Given the description of an element on the screen output the (x, y) to click on. 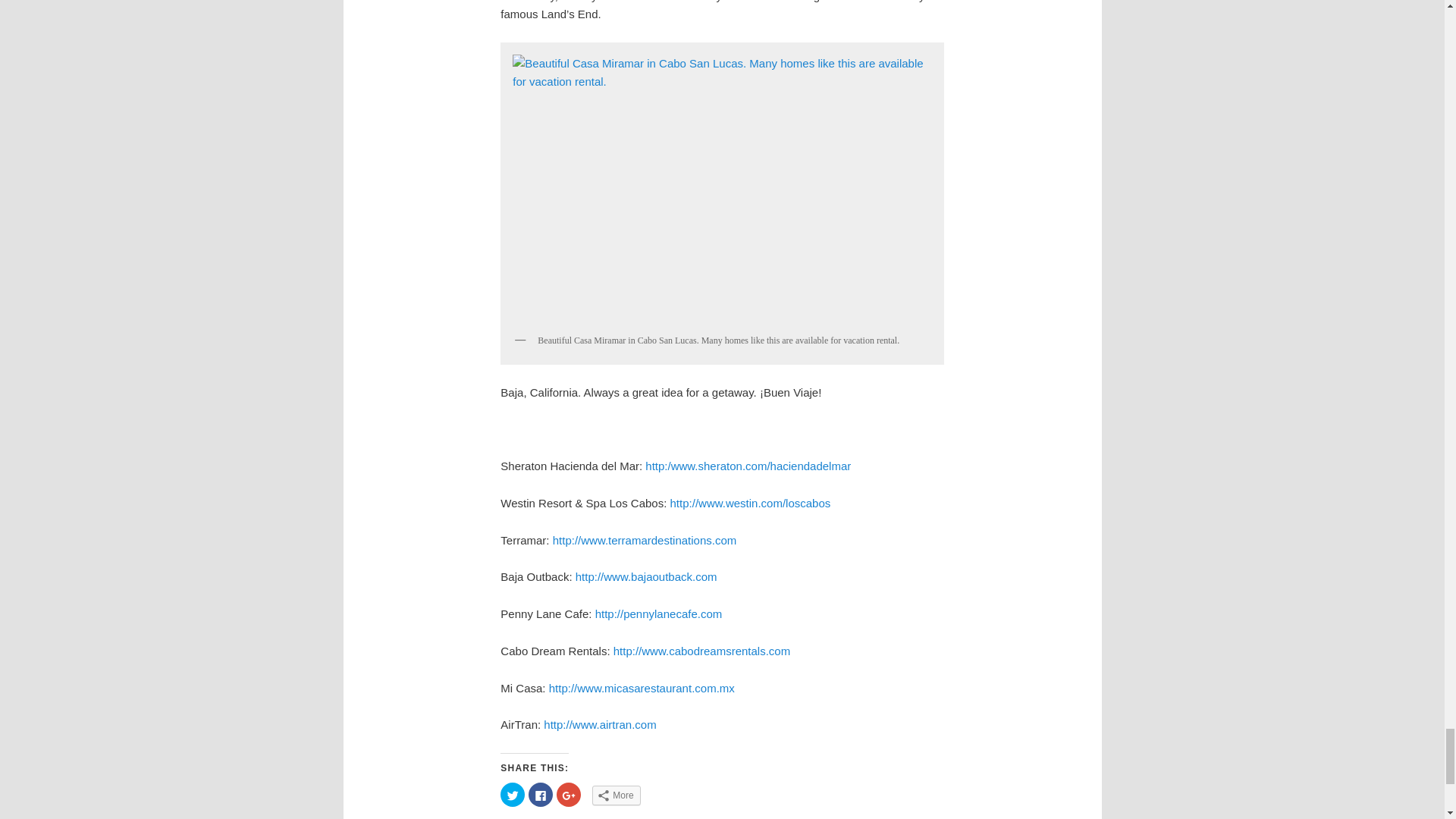
Terramar (644, 540)
Cabo Dream Rentals (701, 650)
Air Tran (599, 724)
Click to share on Facebook (540, 794)
Sheraton Hacienda Del Mar (747, 465)
Click to share on Twitter (512, 794)
Penny Lane Cafe (658, 613)
Mi Casa Restaurant (641, 687)
Westin Los Cabos (750, 502)
More (616, 795)
